Given the description of an element on the screen output the (x, y) to click on. 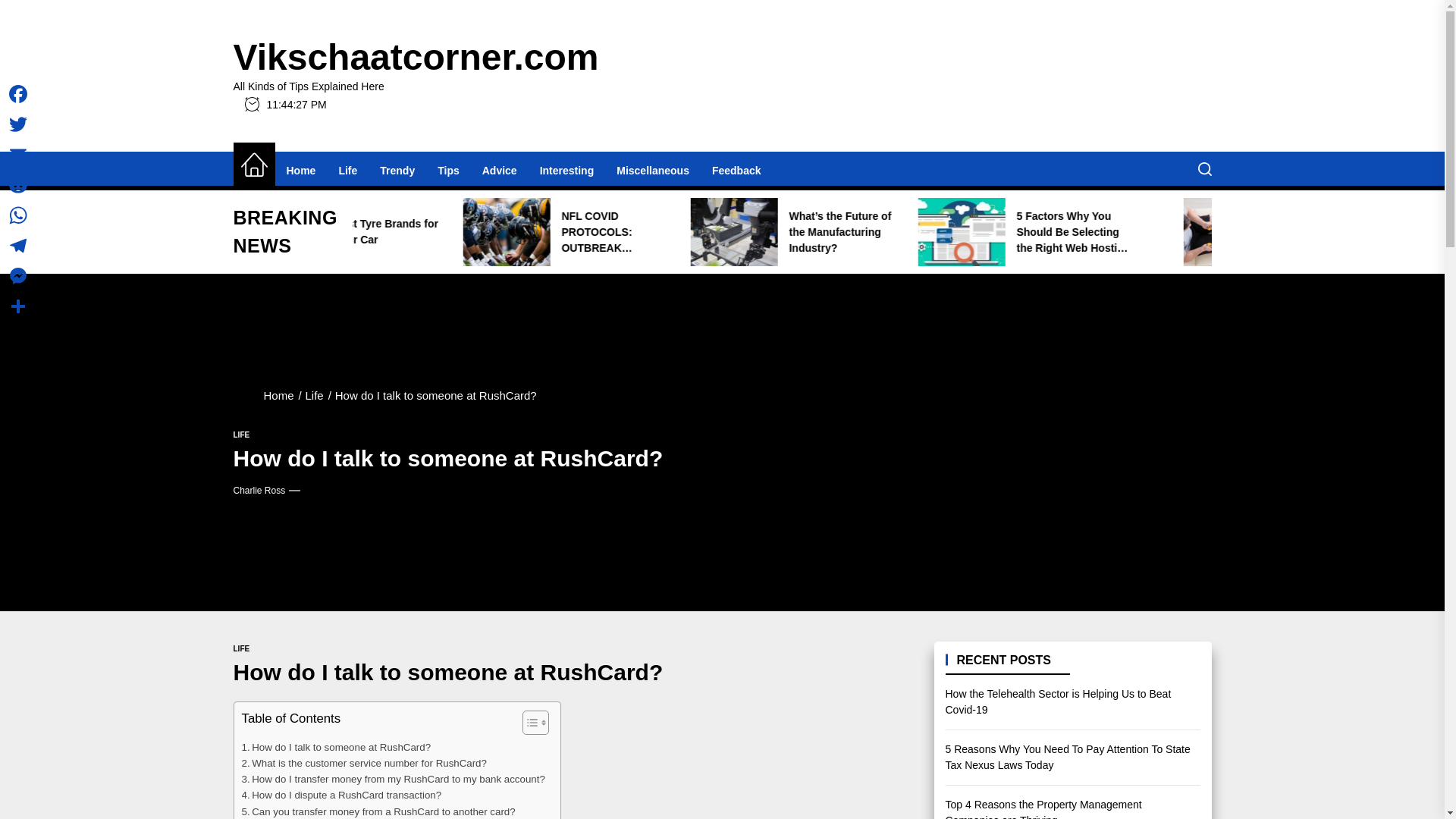
Miscellaneous (652, 170)
5 Advantages Of In-Home Therapy And Rehabilitation (369, 232)
Feedback (736, 170)
NFL COVID PROTOCOLS: OUTBREAK POSTPONES STEELERS-TITANS (798, 232)
Interesting (566, 170)
Vikschaatcorner.com (415, 57)
5 Advantages Of In-Home Therapy And Rehabilitation (348, 232)
Best Tyre Brands for Your Car (593, 232)
Home (253, 165)
Tips (448, 170)
Advice (499, 170)
NFL COVID PROTOCOLS: OUTBREAK POSTPONES STEELERS-TITANS (820, 232)
Home (300, 170)
Trendy (397, 170)
